Given the description of an element on the screen output the (x, y) to click on. 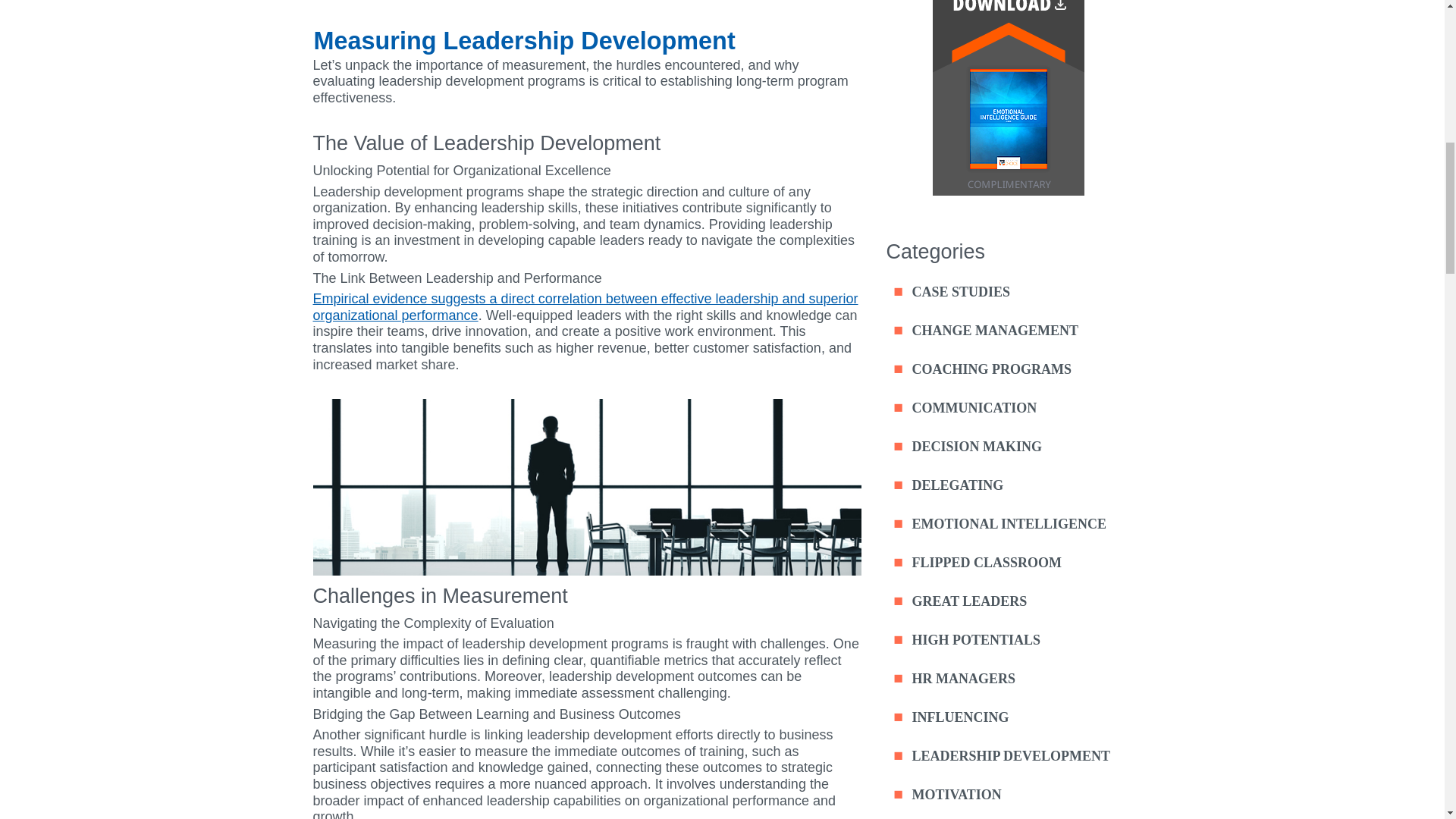
Download our Leadership Guide to Emotional Intelligence (1008, 191)
